Given the description of an element on the screen output the (x, y) to click on. 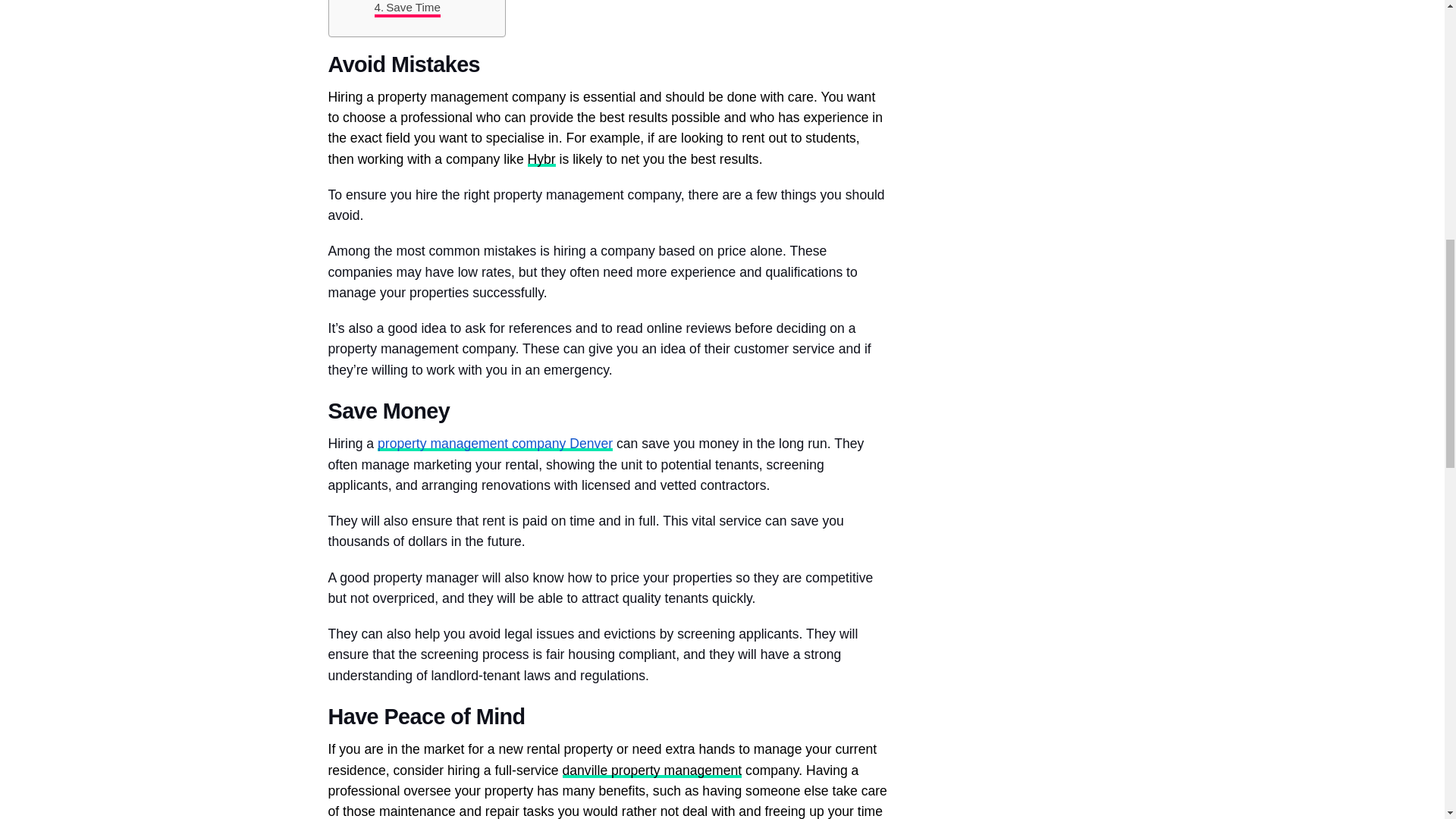
Save Time (407, 8)
